Given the description of an element on the screen output the (x, y) to click on. 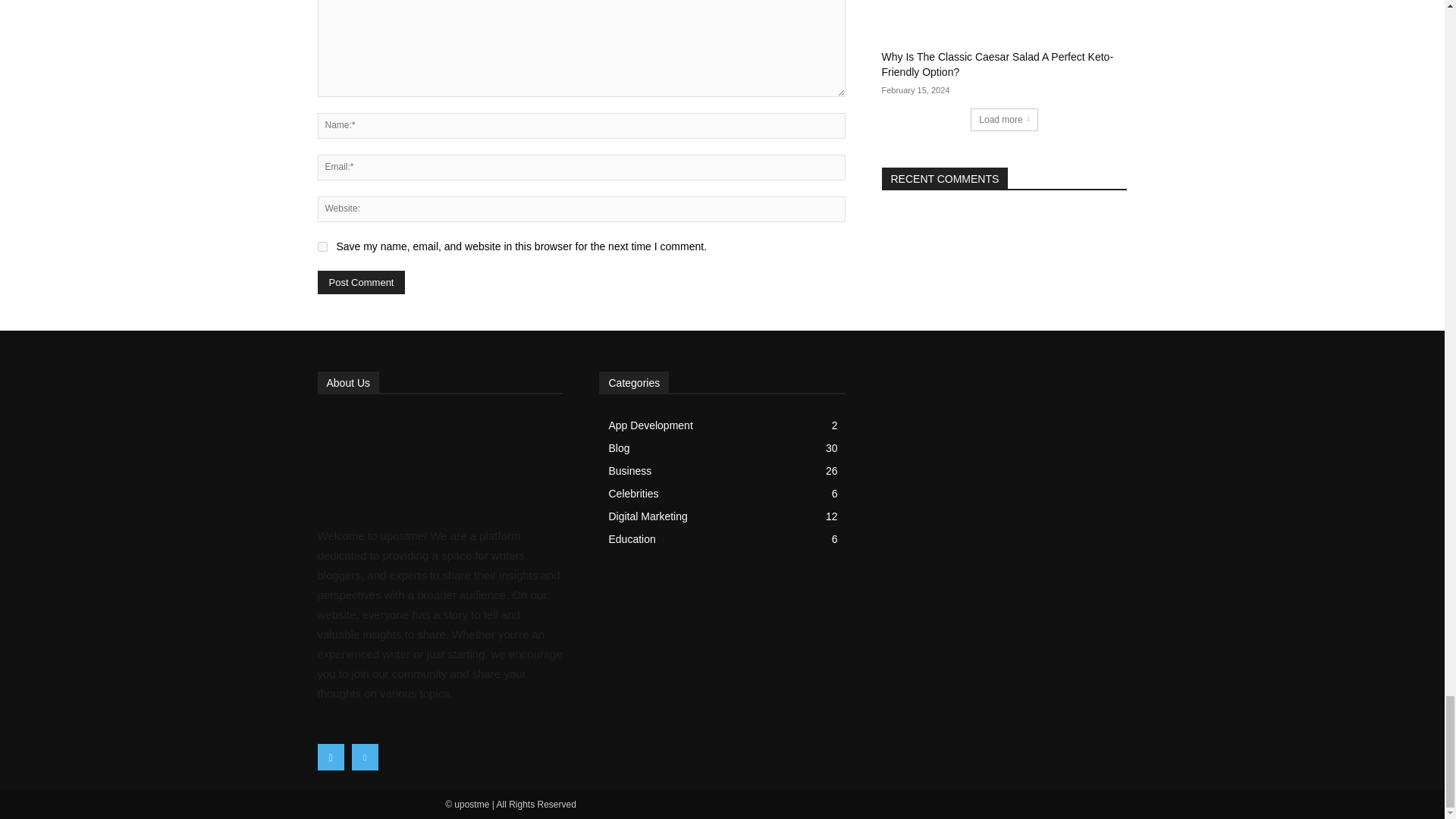
yes (321, 246)
Post Comment (360, 282)
